Given the description of an element on the screen output the (x, y) to click on. 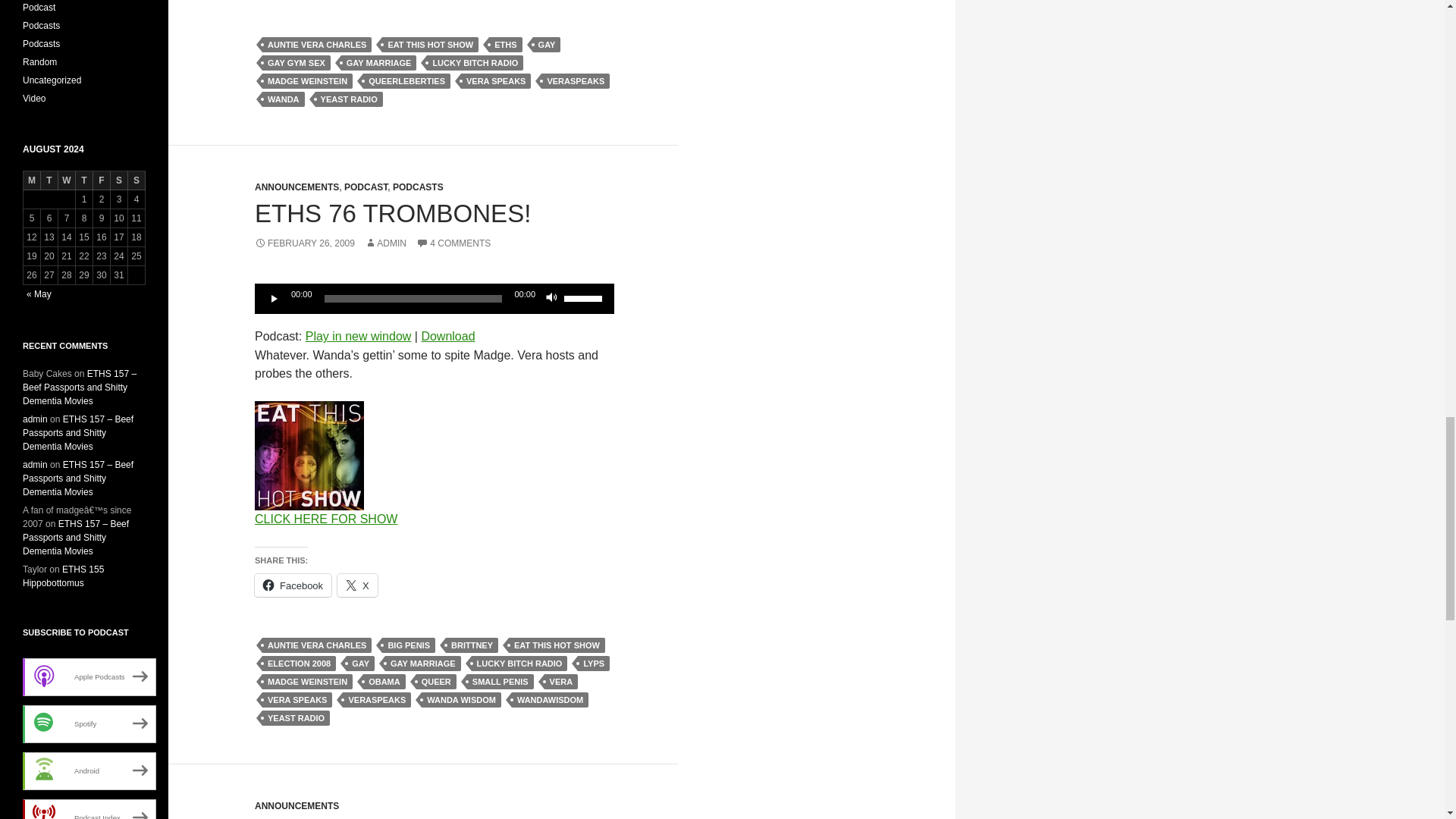
EAT THIS HOT SHOW (430, 44)
GAY (546, 44)
Click to share on Facebook (292, 585)
ETHS (505, 44)
AUNTIE VERA CHARLES (316, 44)
MADGE WEINSTEIN (307, 80)
Mute (551, 298)
GAY MARRIAGE (378, 62)
Play (274, 298)
Download (447, 336)
